Given the description of an element on the screen output the (x, y) to click on. 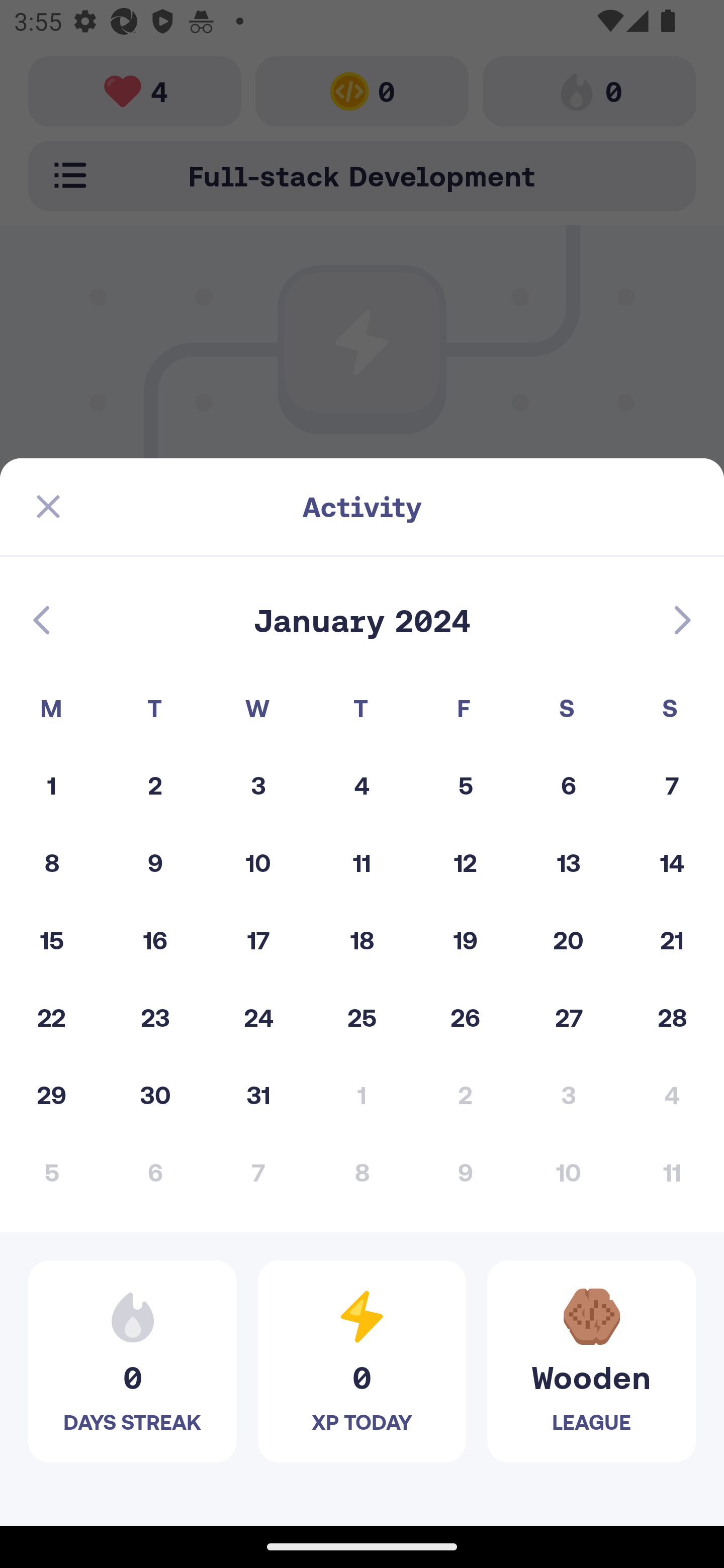
Close (47, 506)
